Given the description of an element on the screen output the (x, y) to click on. 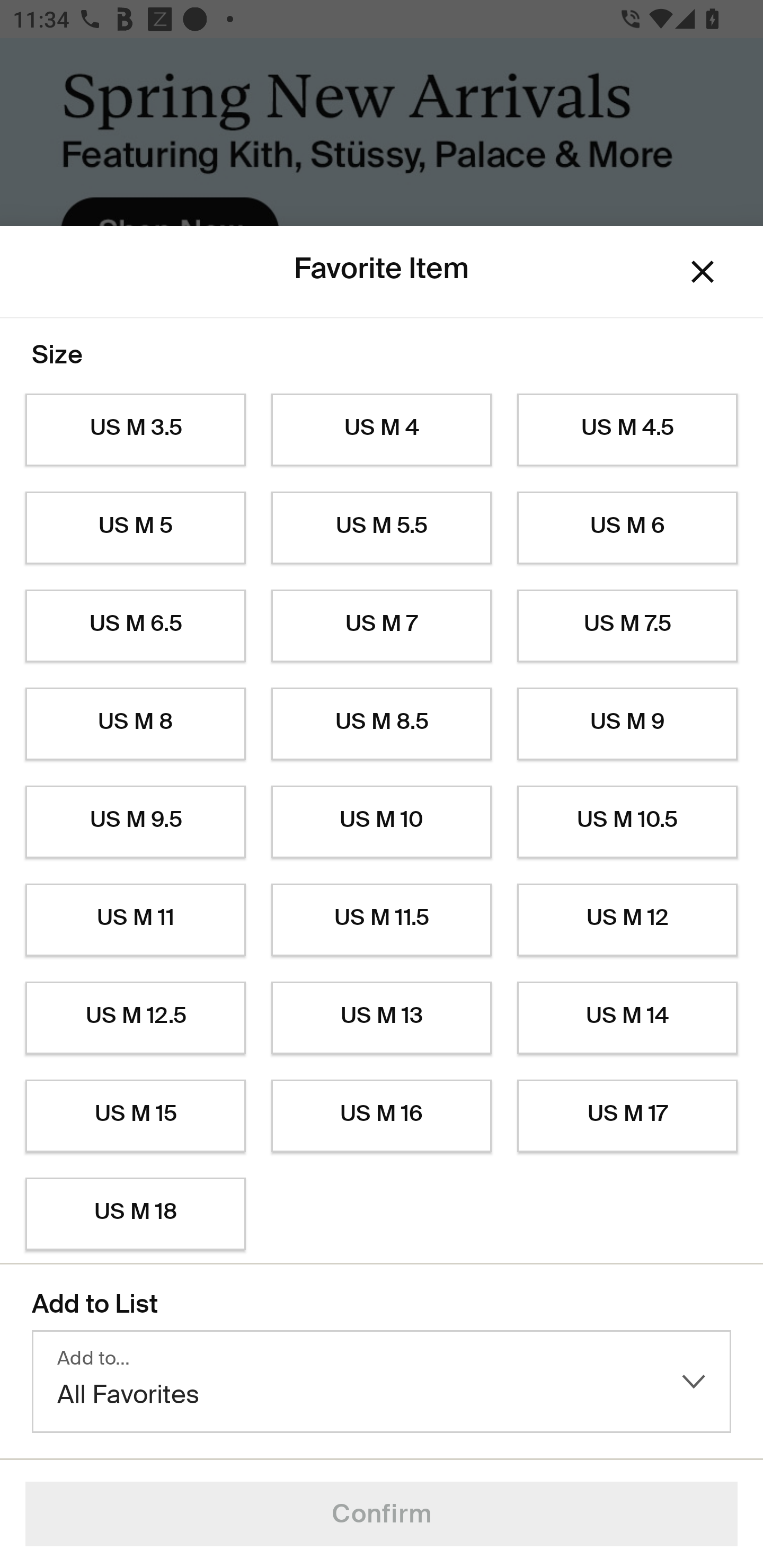
Dismiss (702, 271)
US M 3.5 (135, 430)
US M 4 (381, 430)
US M 4.5 (627, 430)
US M 5 (135, 527)
US M 5.5 (381, 527)
US M 6 (627, 527)
US M 6.5 (135, 626)
US M 7 (381, 626)
US M 7.5 (627, 626)
US M 8 (135, 724)
US M 8.5 (381, 724)
US M 9 (627, 724)
US M 9.5 (135, 822)
US M 10 (381, 822)
US M 10.5 (627, 822)
US M 11 (135, 919)
US M 11.5 (381, 919)
US M 12 (627, 919)
US M 12.5 (135, 1018)
US M 13 (381, 1018)
US M 14 (627, 1018)
US M 15 (135, 1116)
US M 16 (381, 1116)
US M 17 (627, 1116)
US M 18 (135, 1214)
Add to… All Favorites (381, 1381)
Confirm (381, 1513)
